Given the description of an element on the screen output the (x, y) to click on. 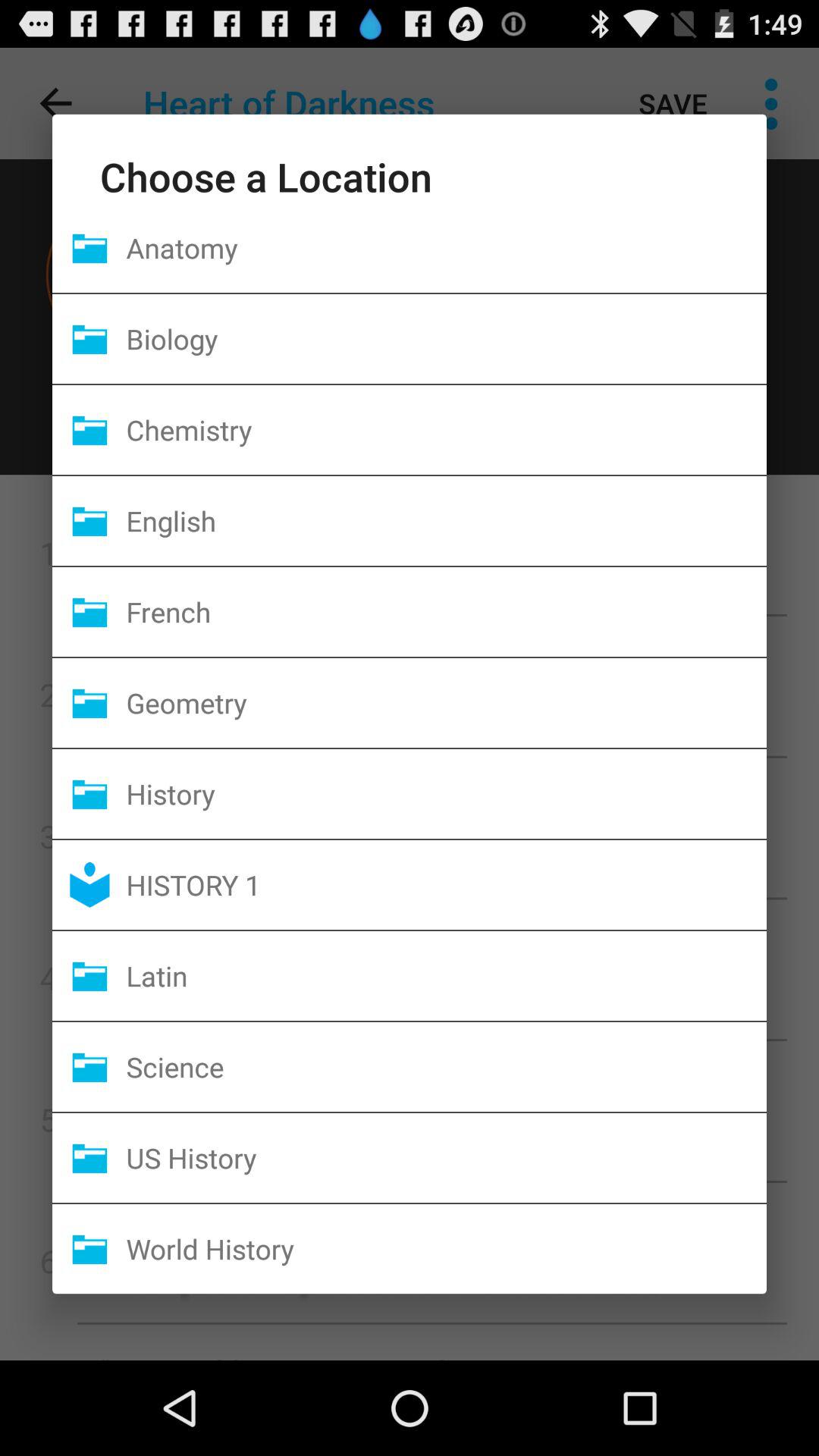
jump until the anatomy item (446, 247)
